Given the description of an element on the screen output the (x, y) to click on. 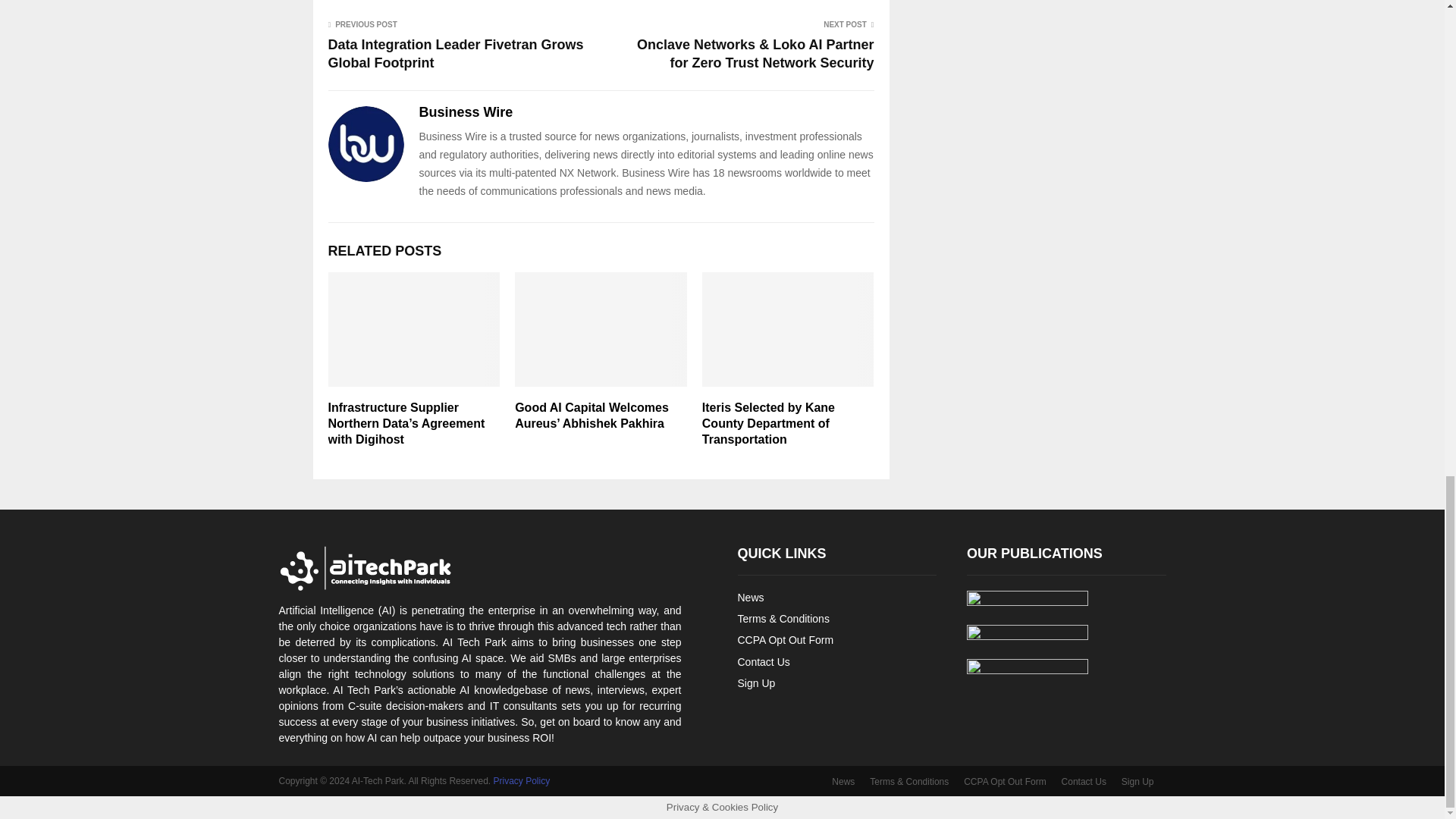
Posts by Business Wire (465, 112)
